Given the description of an element on the screen output the (x, y) to click on. 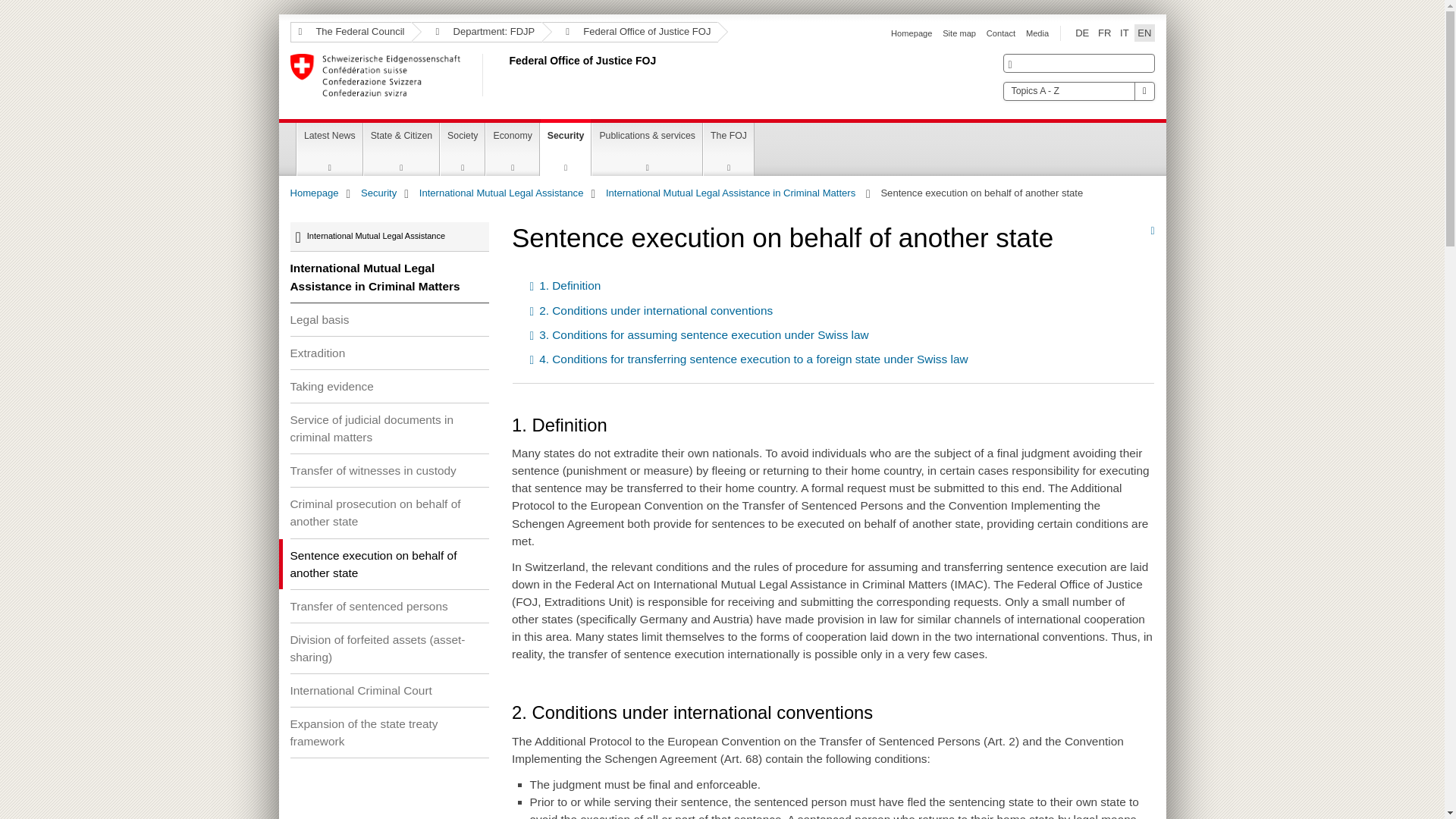
Media (1037, 32)
DE (1081, 32)
Site map (958, 32)
Homepage (911, 32)
Department: FDJP (476, 32)
FR (1103, 32)
EN (1144, 32)
The Federal Council (350, 32)
Federal Office of Justice FOJ (505, 75)
Federal Office of Justice FOJ (629, 32)
Contact (1000, 32)
